Given the description of an element on the screen output the (x, y) to click on. 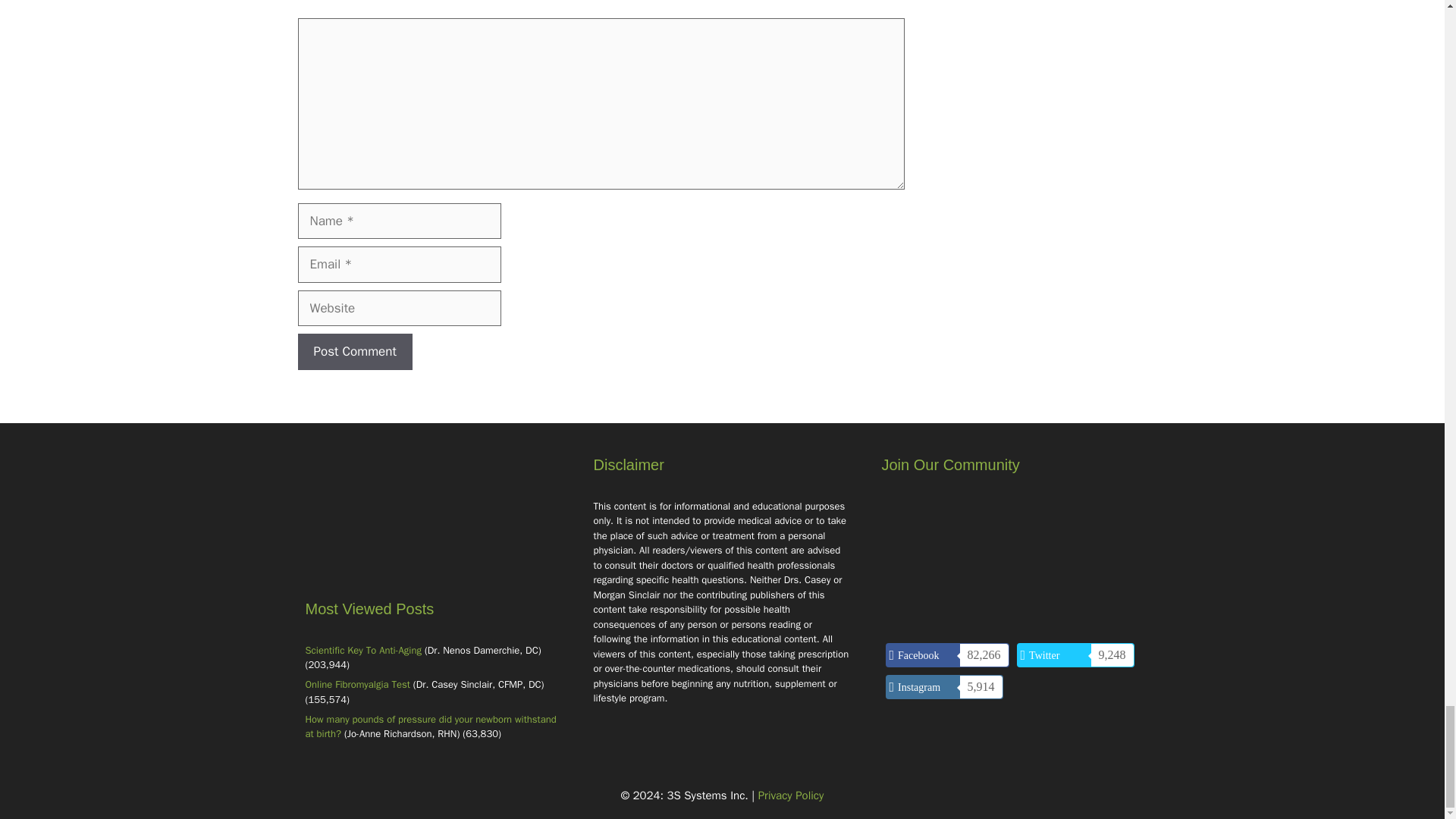
FHALogoWhite (433, 524)
Post Comment (354, 351)
